Given the description of an element on the screen output the (x, y) to click on. 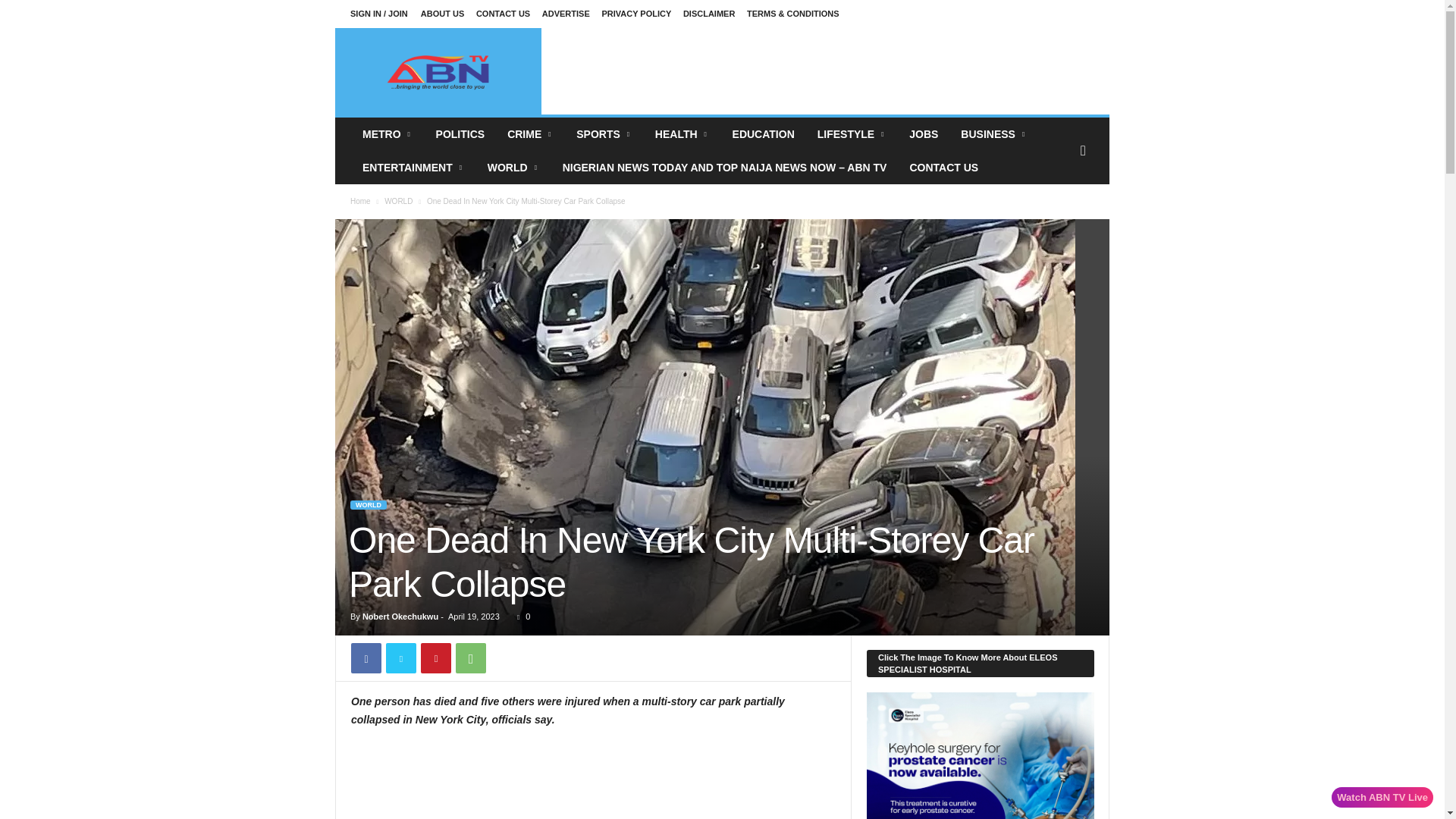
View all posts in WORLD (398, 201)
Twitter (400, 657)
ABOUT US (442, 13)
Facebook (365, 657)
Pinterest (435, 657)
WhatsApp (470, 657)
Advertisement (826, 70)
